Given the description of an element on the screen output the (x, y) to click on. 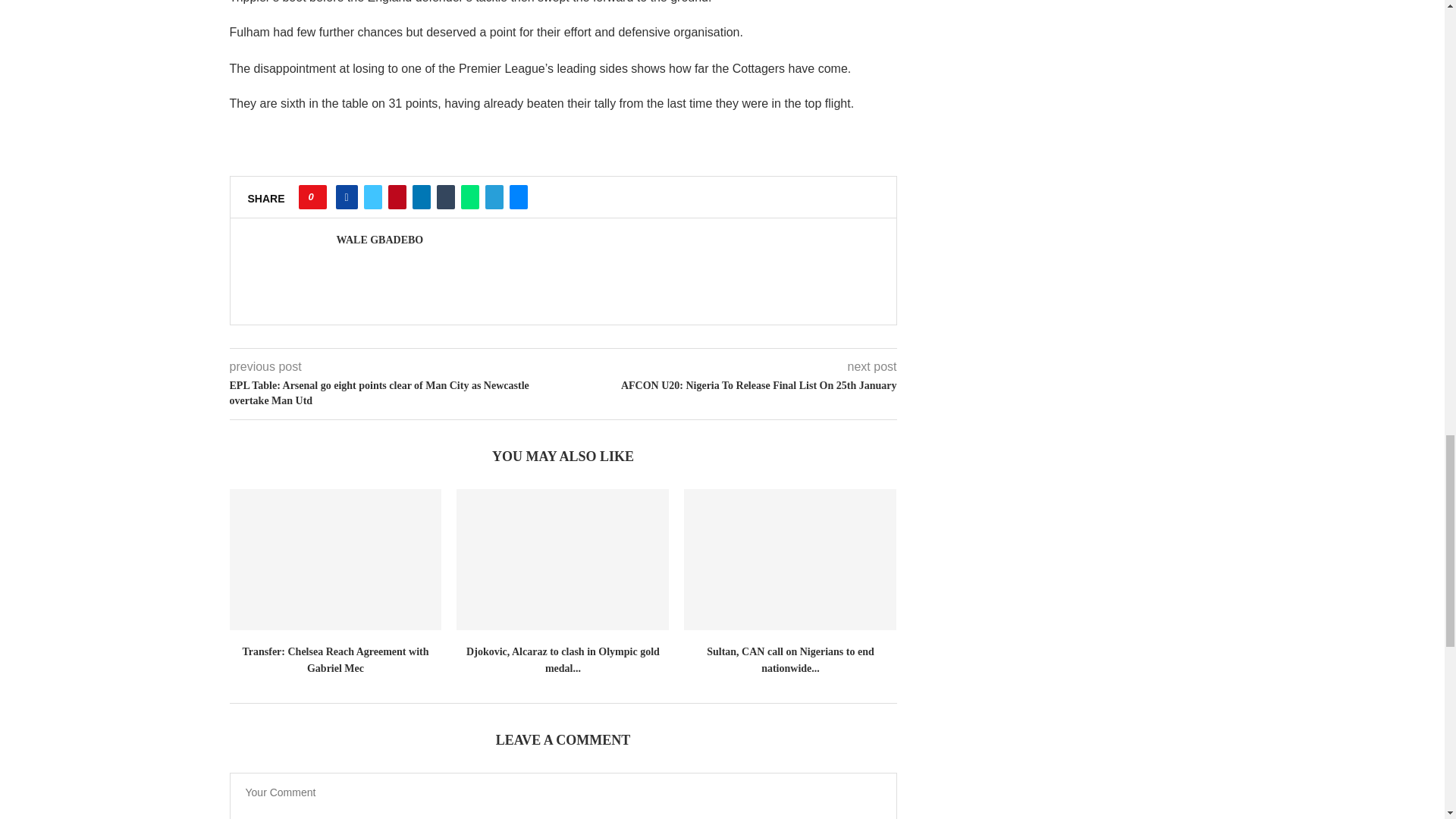
Sultan, CAN call on Nigerians to end nationwide protest (790, 559)
Djokovic, Alcaraz to clash in Olympic gold medal showdown (562, 559)
Author Wale Gbadebo (379, 240)
Transfer: Chelsea Reach Agreement with Gabriel Mec (334, 559)
